Given the description of an element on the screen output the (x, y) to click on. 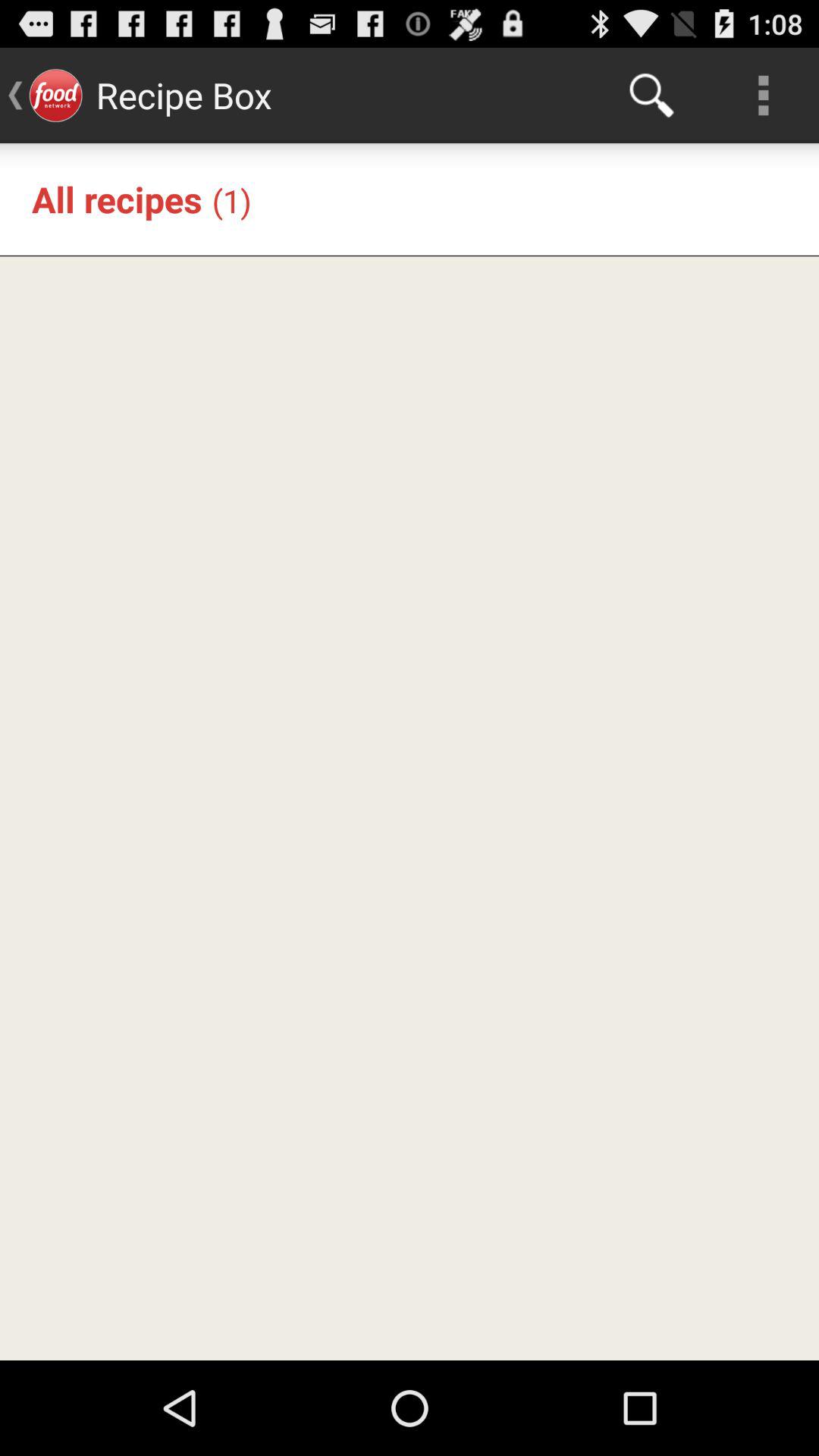
choose icon to the right of the recipe box item (651, 95)
